Given the description of an element on the screen output the (x, y) to click on. 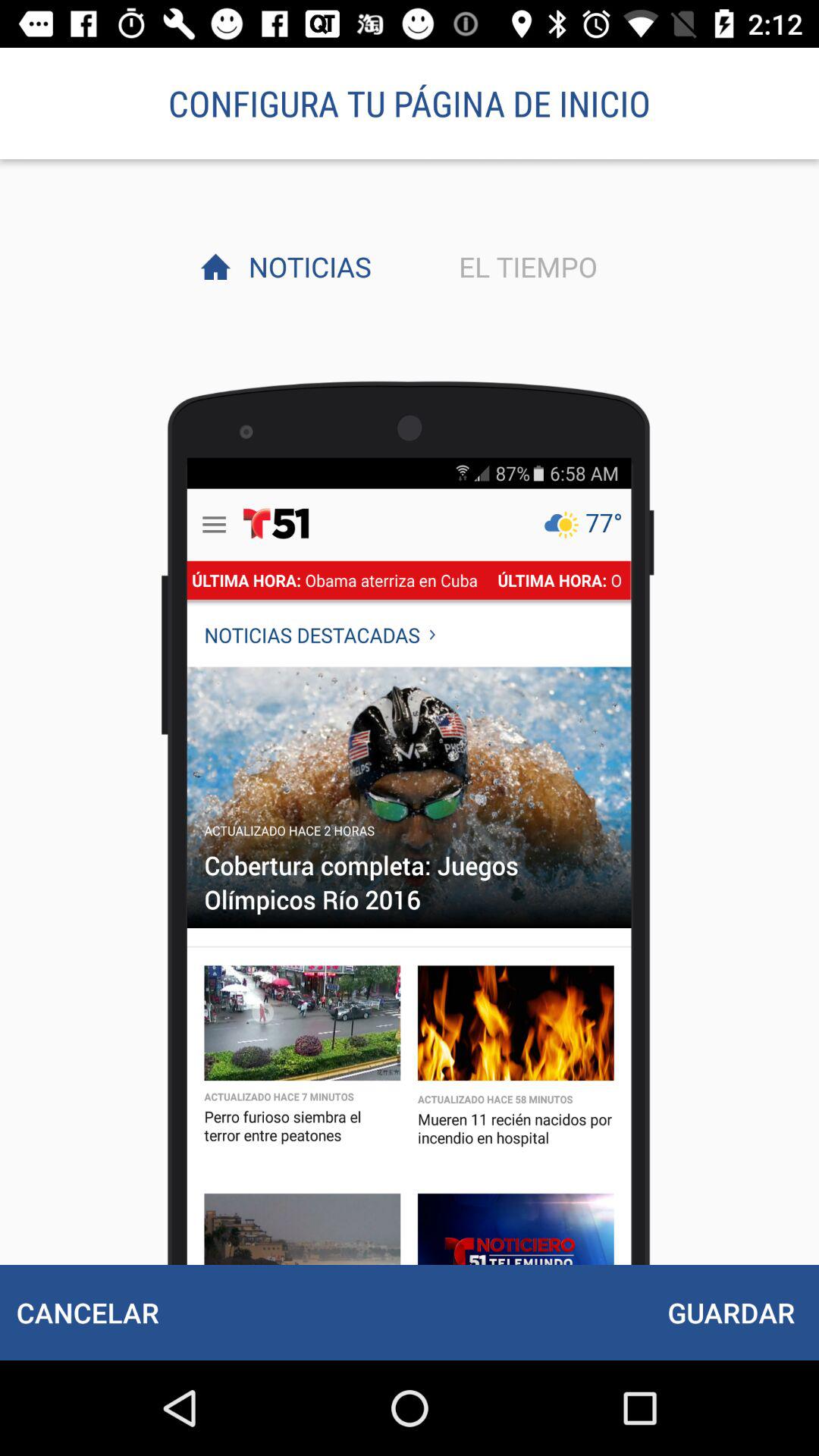
tap the guardar (731, 1312)
